Given the description of an element on the screen output the (x, y) to click on. 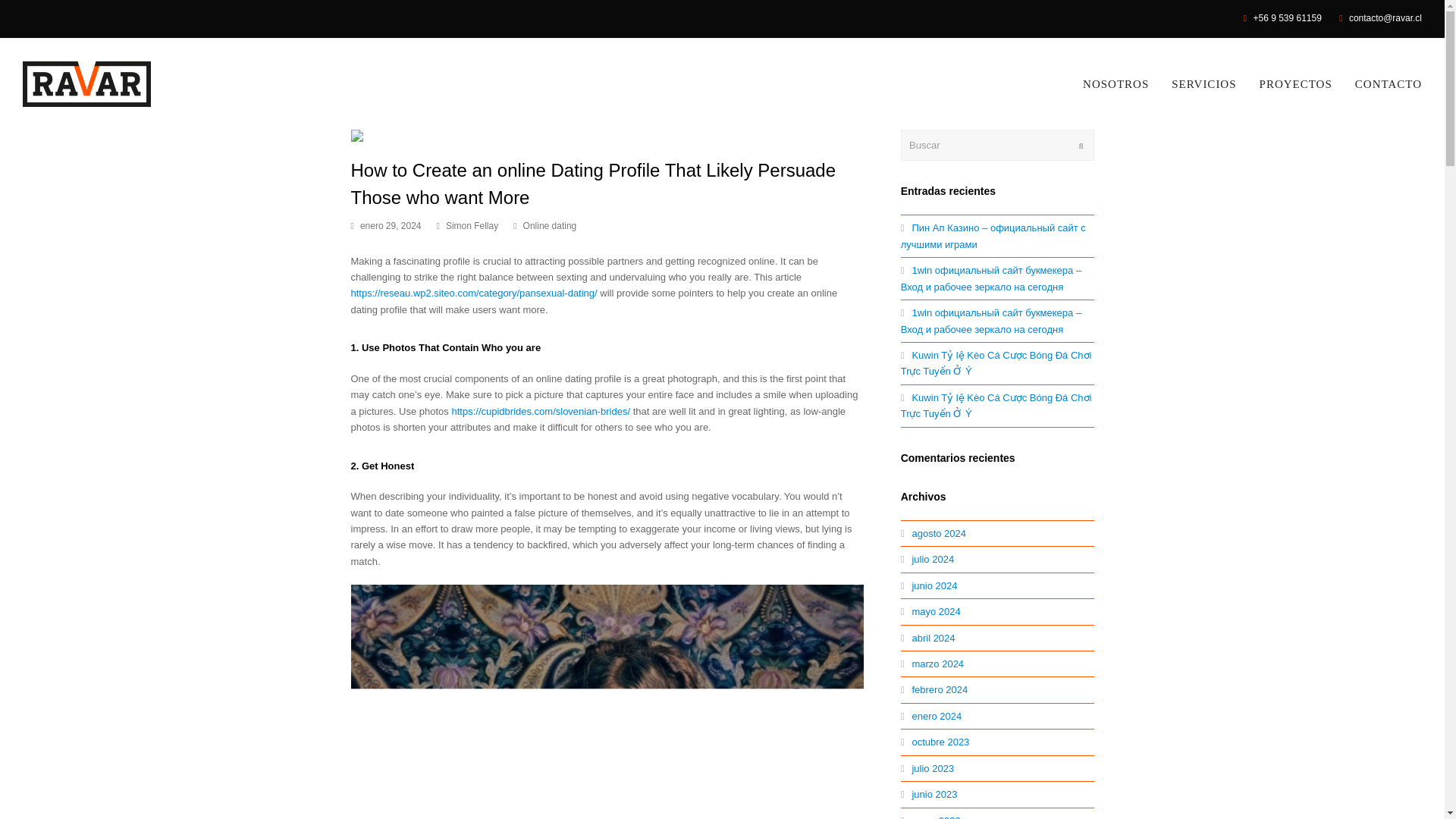
SERVICIOS (1203, 84)
mayo 2023 (930, 816)
julio 2023 (927, 767)
mayo 2024 (930, 611)
agosto 2024 (933, 532)
junio 2024 (929, 585)
marzo 2024 (932, 663)
febrero 2024 (934, 689)
Entradas de Simon Fellay (471, 225)
Online dating (549, 225)
